Given the description of an element on the screen output the (x, y) to click on. 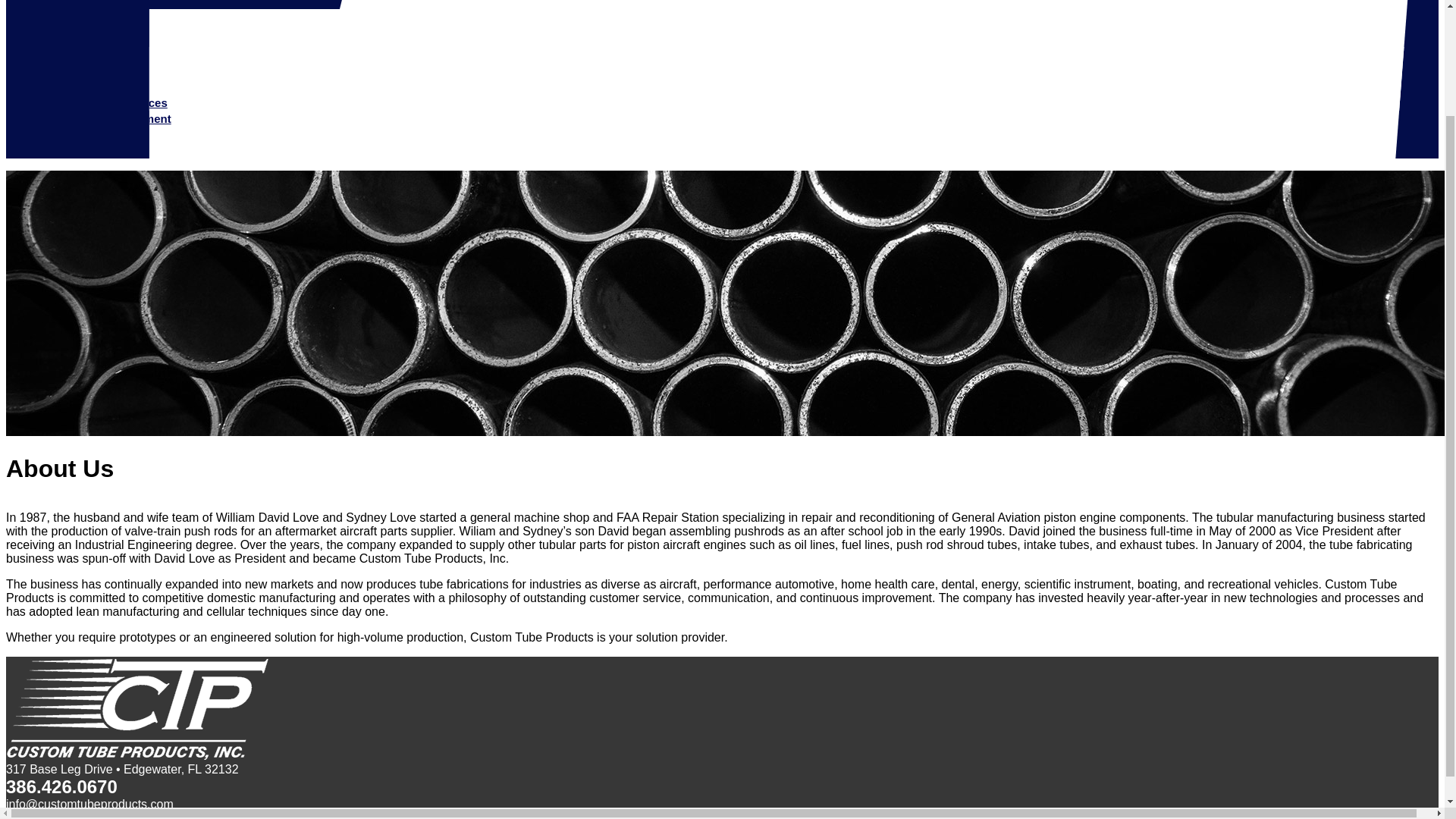
Quality Documents (84, 133)
Value-Added Services (107, 102)
Home (49, 6)
Tube End Forming (98, 70)
Services (56, 38)
Tube End Forming (98, 70)
Tube Assemblies (94, 86)
Value-Added Services (107, 102)
Tube Bending (85, 54)
Tube Assemblies (94, 86)
Contact Us (63, 150)
About Us (58, 22)
Home (49, 6)
Contact Us (63, 150)
About Us (58, 22)
